Given the description of an element on the screen output the (x, y) to click on. 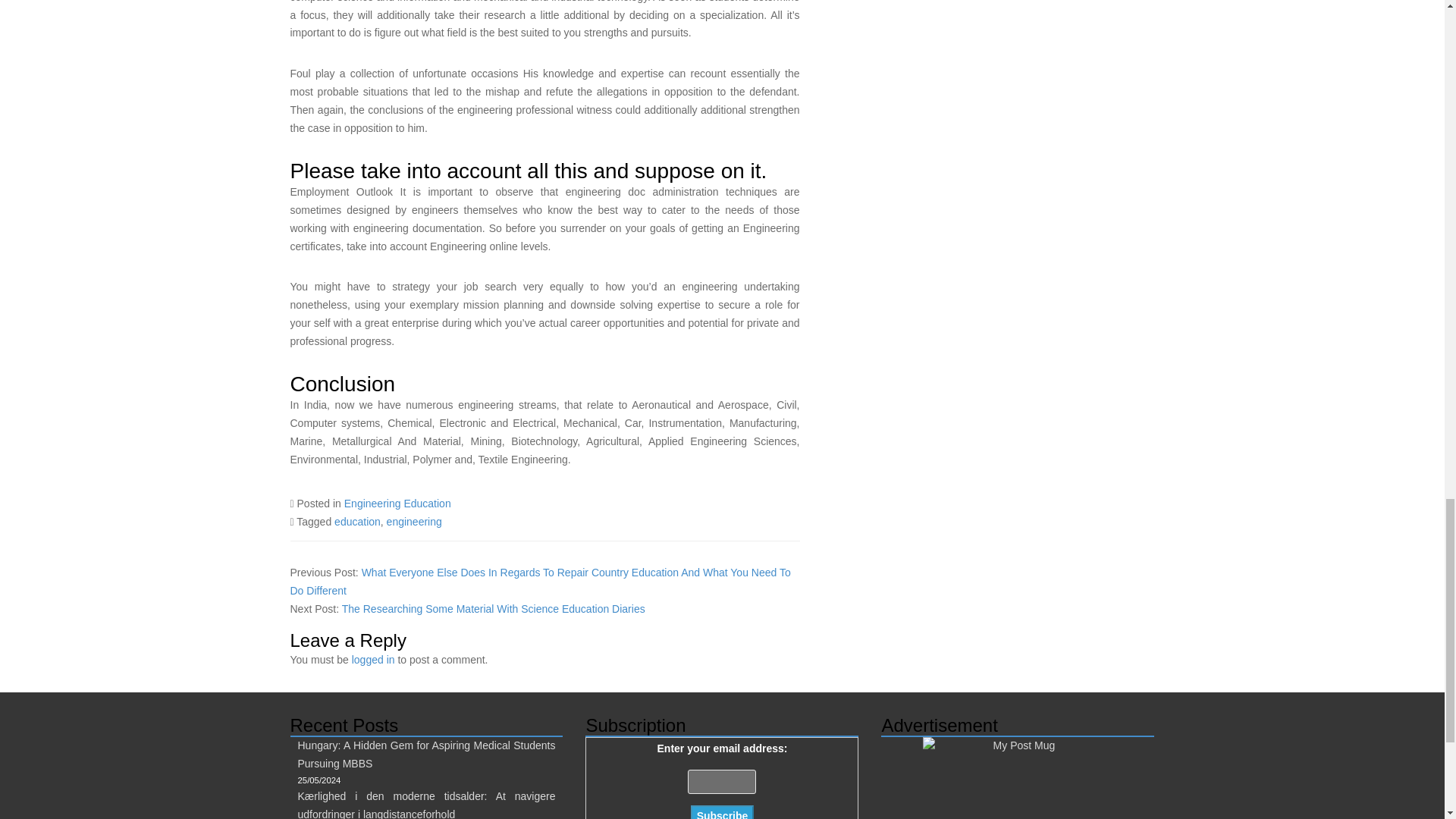
education (357, 521)
engineering (414, 521)
The Researching Some Material With Science Education Diaries (493, 608)
Subscribe (722, 812)
logged in (373, 659)
Engineering Education (397, 503)
